Given the description of an element on the screen output the (x, y) to click on. 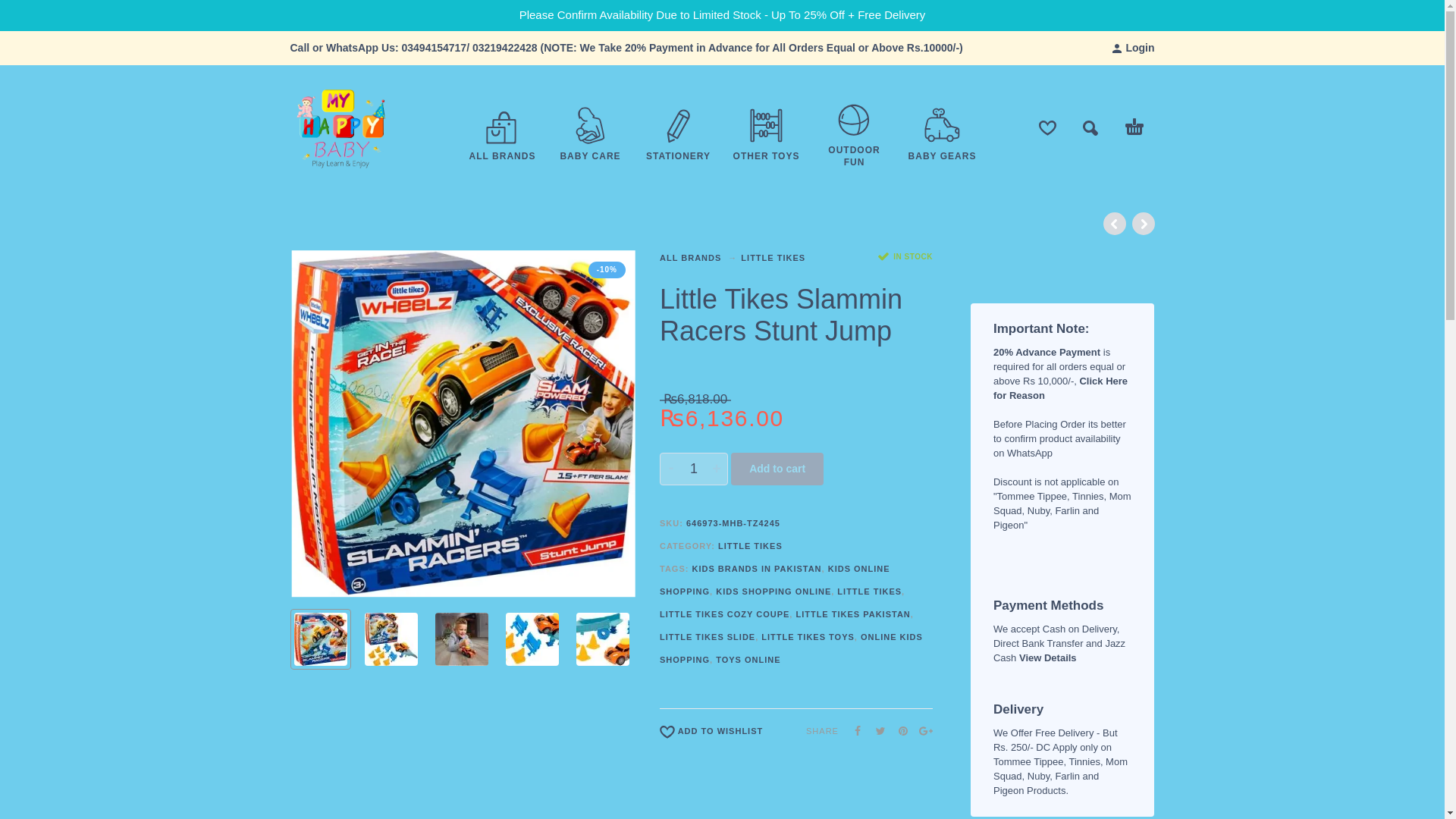
Login (1133, 47)
Share on Twitter (875, 730)
1 (693, 468)
Share on Facebook (852, 730)
Pin on Pinterest (898, 730)
ALL BRANDS (502, 154)
Qty (693, 468)
